Given the description of an element on the screen output the (x, y) to click on. 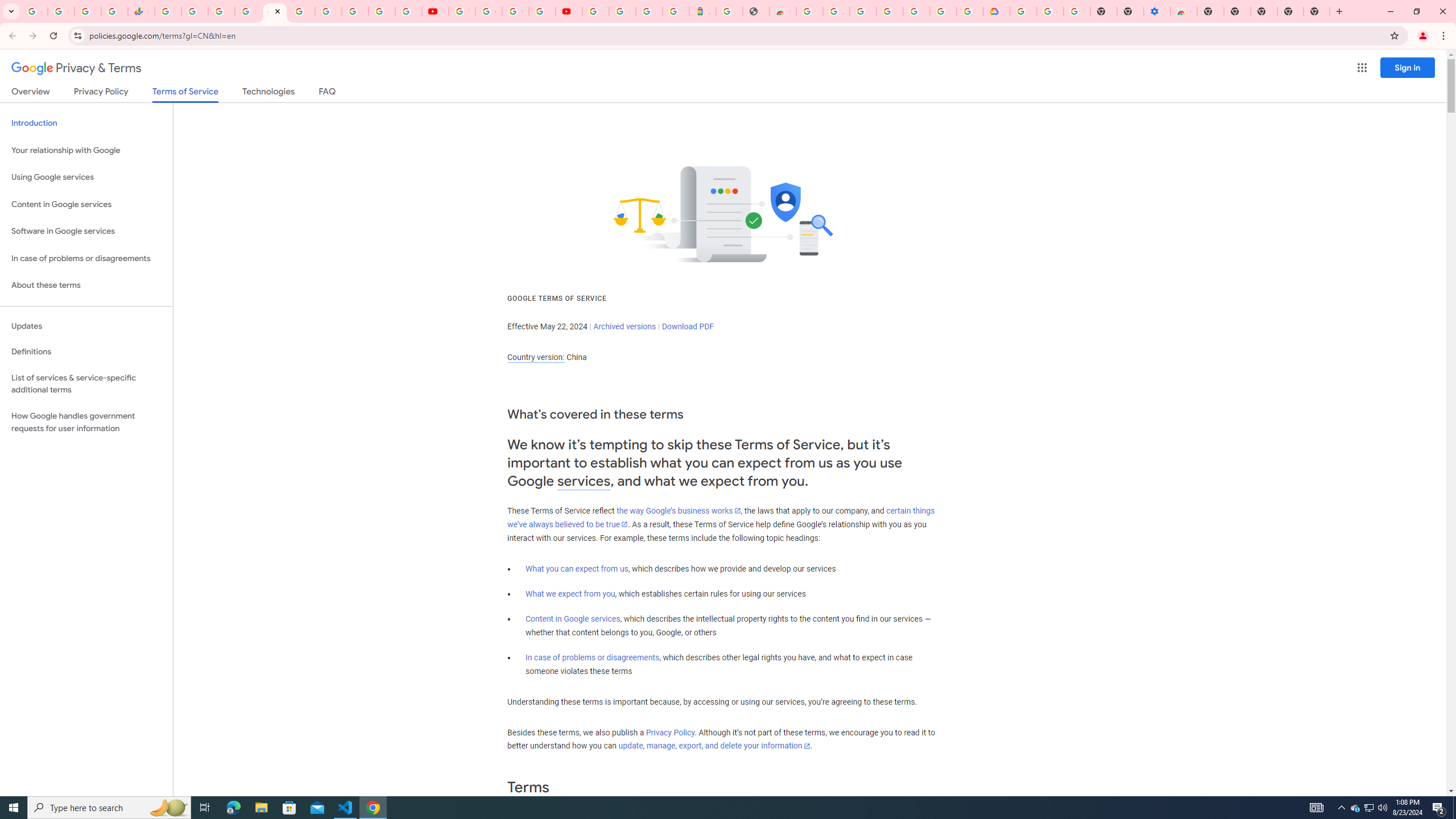
Download PDF (687, 326)
Settings - Accessibility (1156, 11)
In case of problems or disagreements (592, 657)
New Tab (1316, 11)
Privacy Checkup (408, 11)
Software in Google services (86, 230)
